Given the description of an element on the screen output the (x, y) to click on. 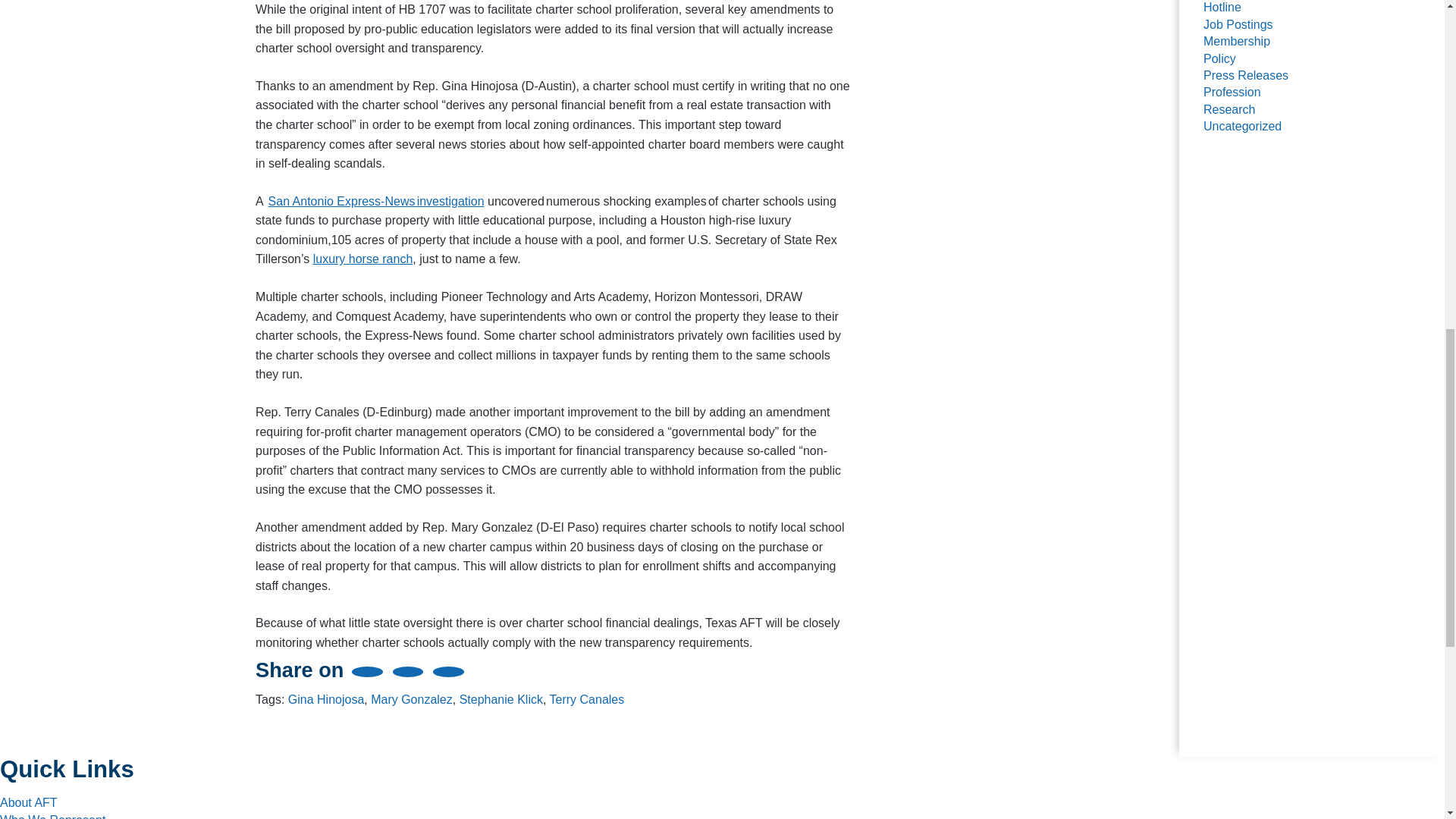
Policy (1220, 58)
Job Postings (1238, 24)
Membership (1236, 41)
Hotline (1222, 6)
